Given the description of an element on the screen output the (x, y) to click on. 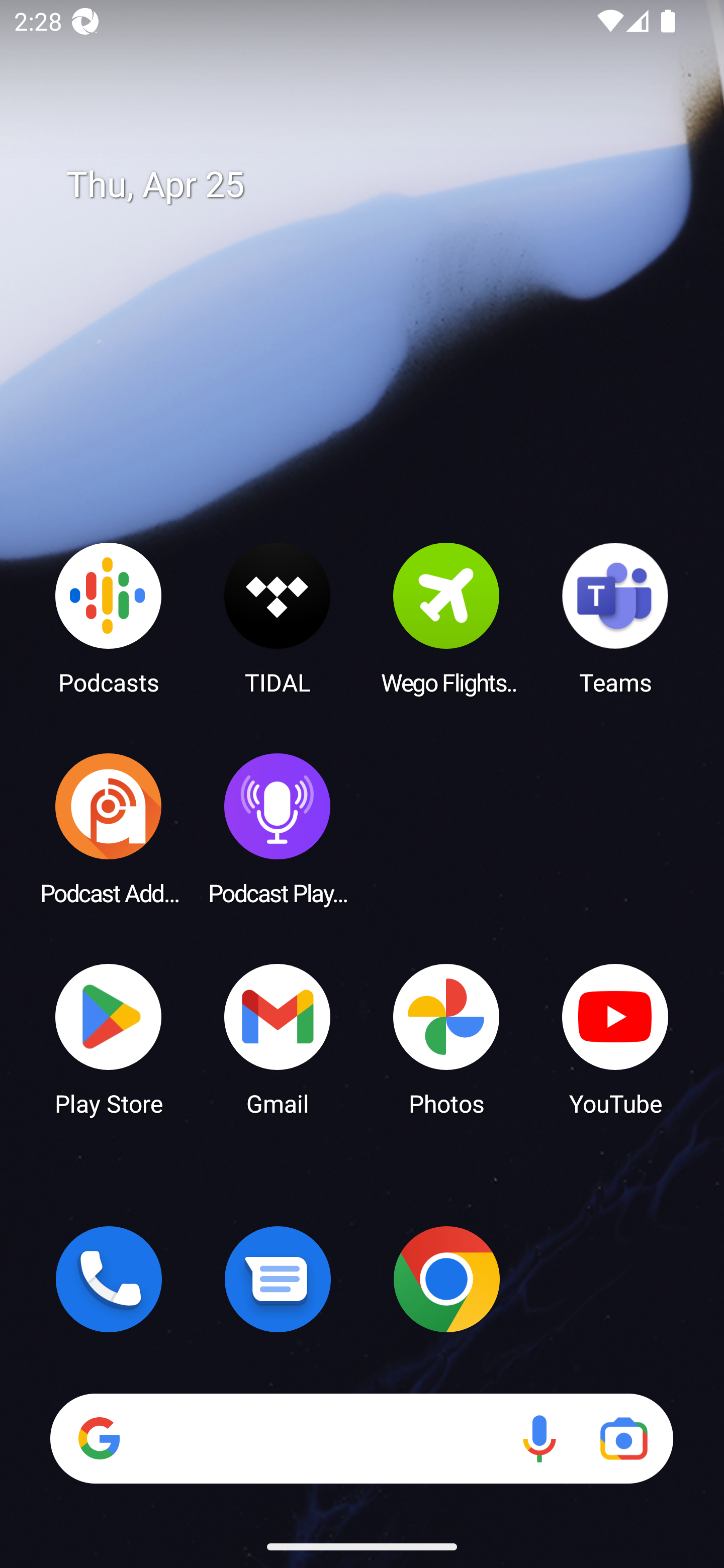
Thu, Apr 25 (375, 184)
Podcasts (108, 617)
TIDAL (277, 617)
Wego Flights & Hotels (445, 617)
Teams (615, 617)
Podcast Addict (108, 828)
Podcast Player (277, 828)
Play Store (108, 1038)
Gmail (277, 1038)
Photos (445, 1038)
YouTube (615, 1038)
Phone (108, 1279)
Messages (277, 1279)
Chrome (446, 1279)
Search Voice search Google Lens (361, 1438)
Voice search (539, 1438)
Google Lens (623, 1438)
